Given the description of an element on the screen output the (x, y) to click on. 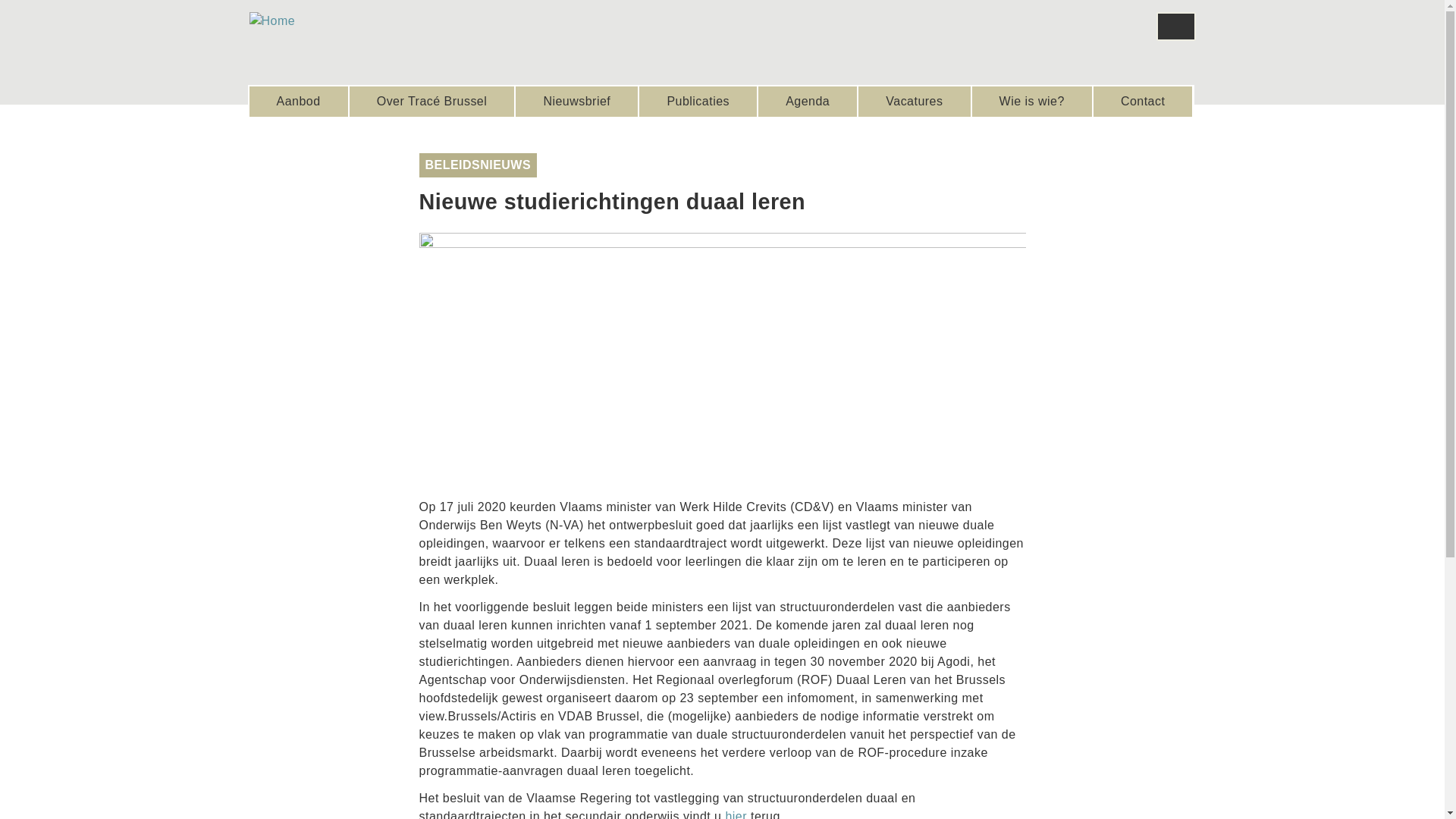
Vacatures Element type: text (913, 101)
Geef de woorden op waarnaar u wilt zoeken. Element type: hover (1175, 26)
Publicaties Element type: text (697, 101)
Skip to main navigation Element type: text (0, 0)
Agenda Element type: text (807, 101)
Aanbod Element type: text (297, 101)
Home Element type: hover (271, 20)
Nieuwsbrief Element type: text (576, 101)
Contact Element type: text (1142, 101)
Wie is wie? Element type: text (1032, 101)
